Given the description of an element on the screen output the (x, y) to click on. 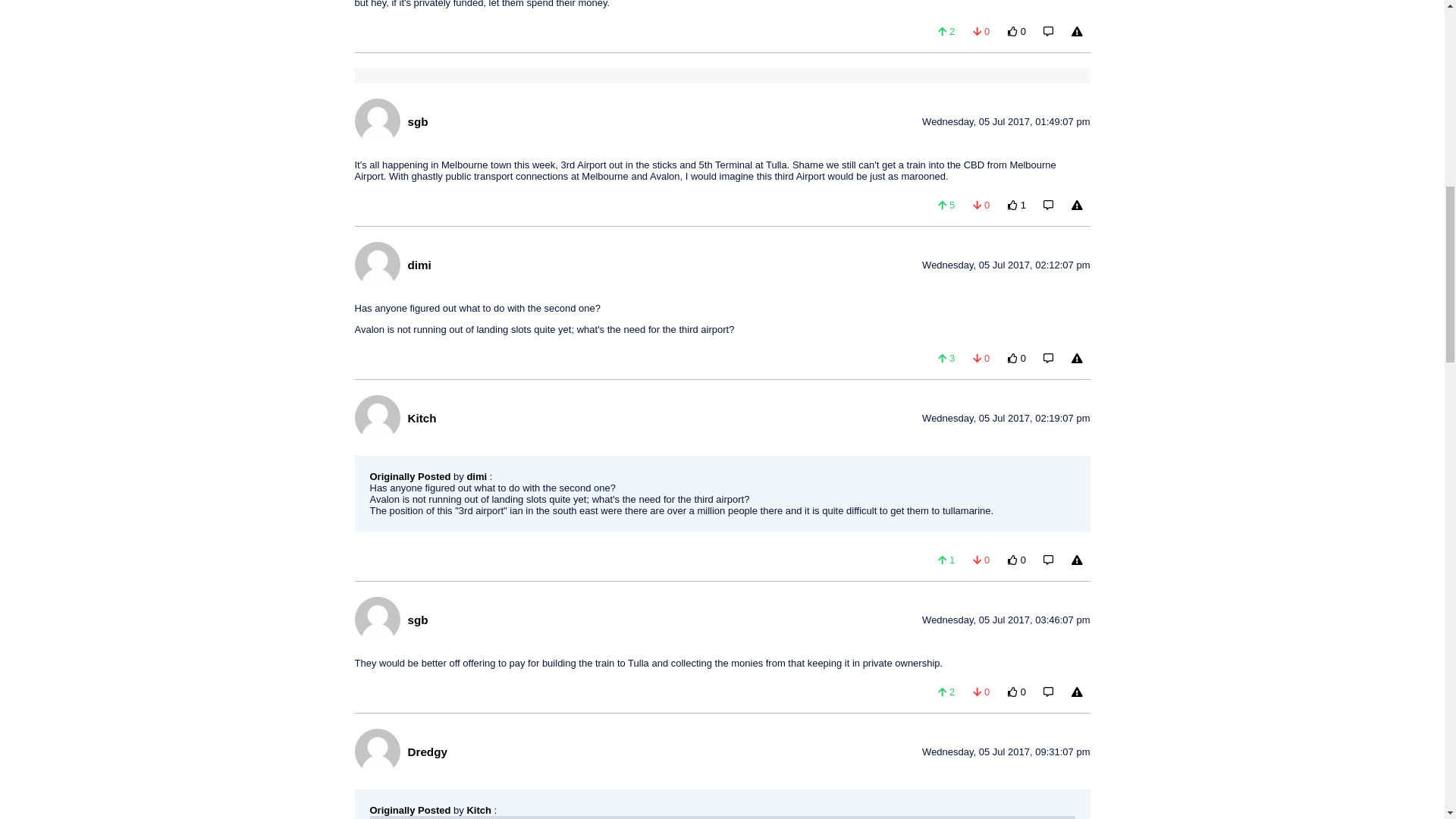
Dislike (981, 31)
Like (946, 204)
Like (946, 31)
Thank MRYJDrake for this helpful post (1016, 31)
Reply with Quote (1048, 31)
sgb (417, 121)
Report this post (1077, 31)
